Given the description of an element on the screen output the (x, y) to click on. 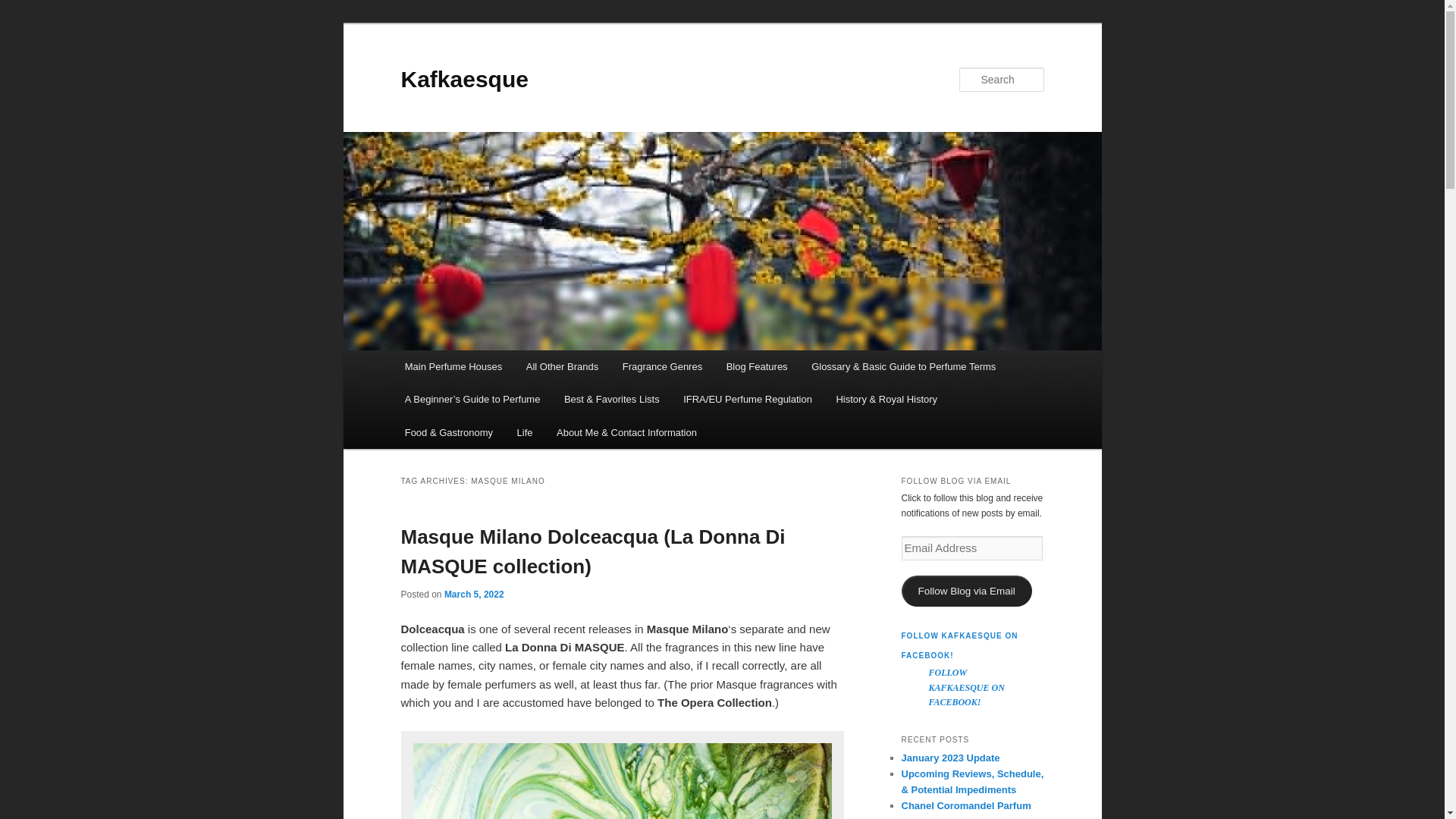
All Other Brands (561, 366)
Kafkaesque (463, 78)
Main Perfume Houses (453, 366)
4:58 pm (473, 593)
Search (24, 8)
Kafkaesque (463, 78)
